Given the description of an element on the screen output the (x, y) to click on. 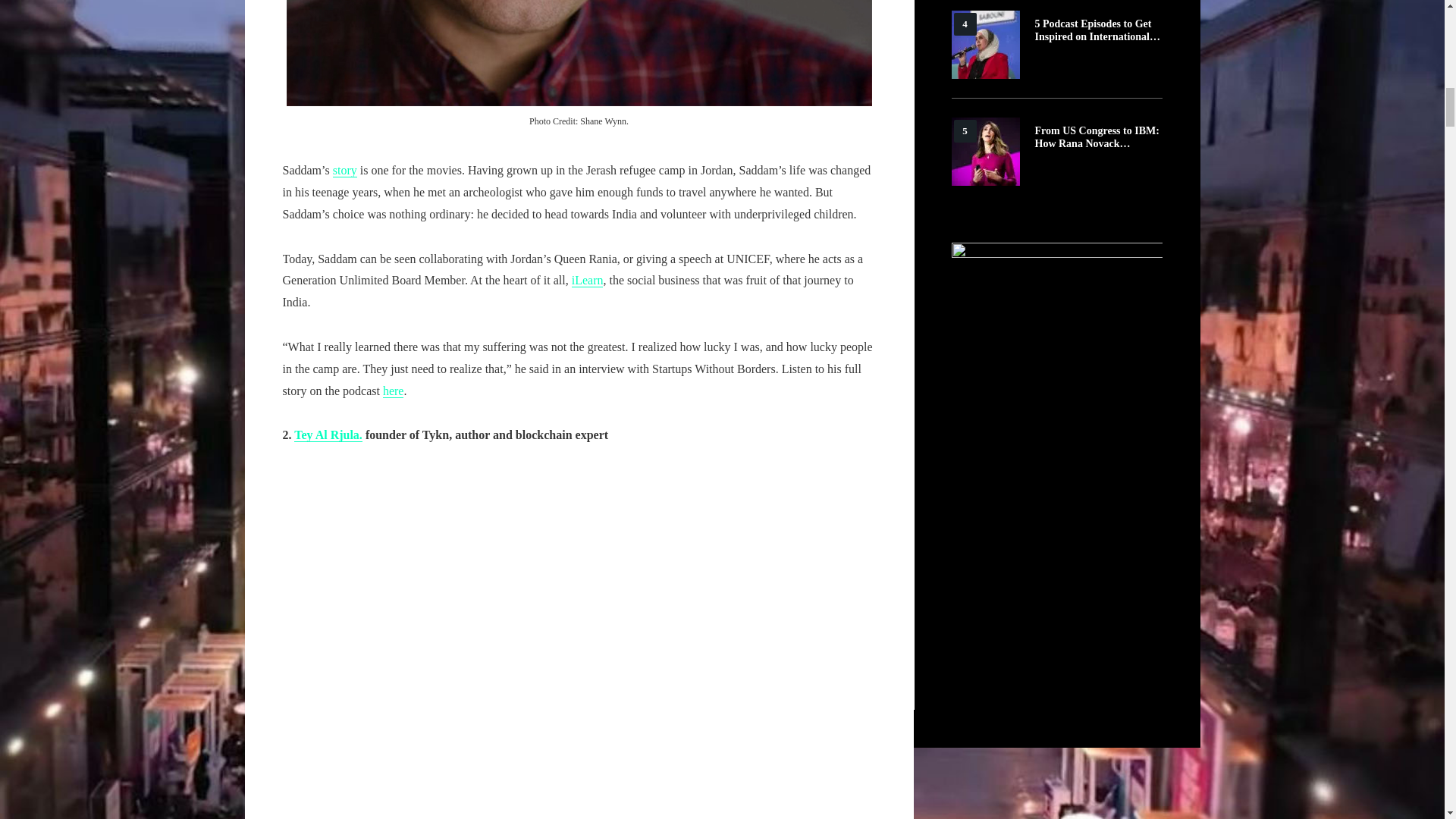
story (344, 170)
here (393, 391)
Tey Al Rjula. (328, 435)
iLearn (588, 280)
